Given the description of an element on the screen output the (x, y) to click on. 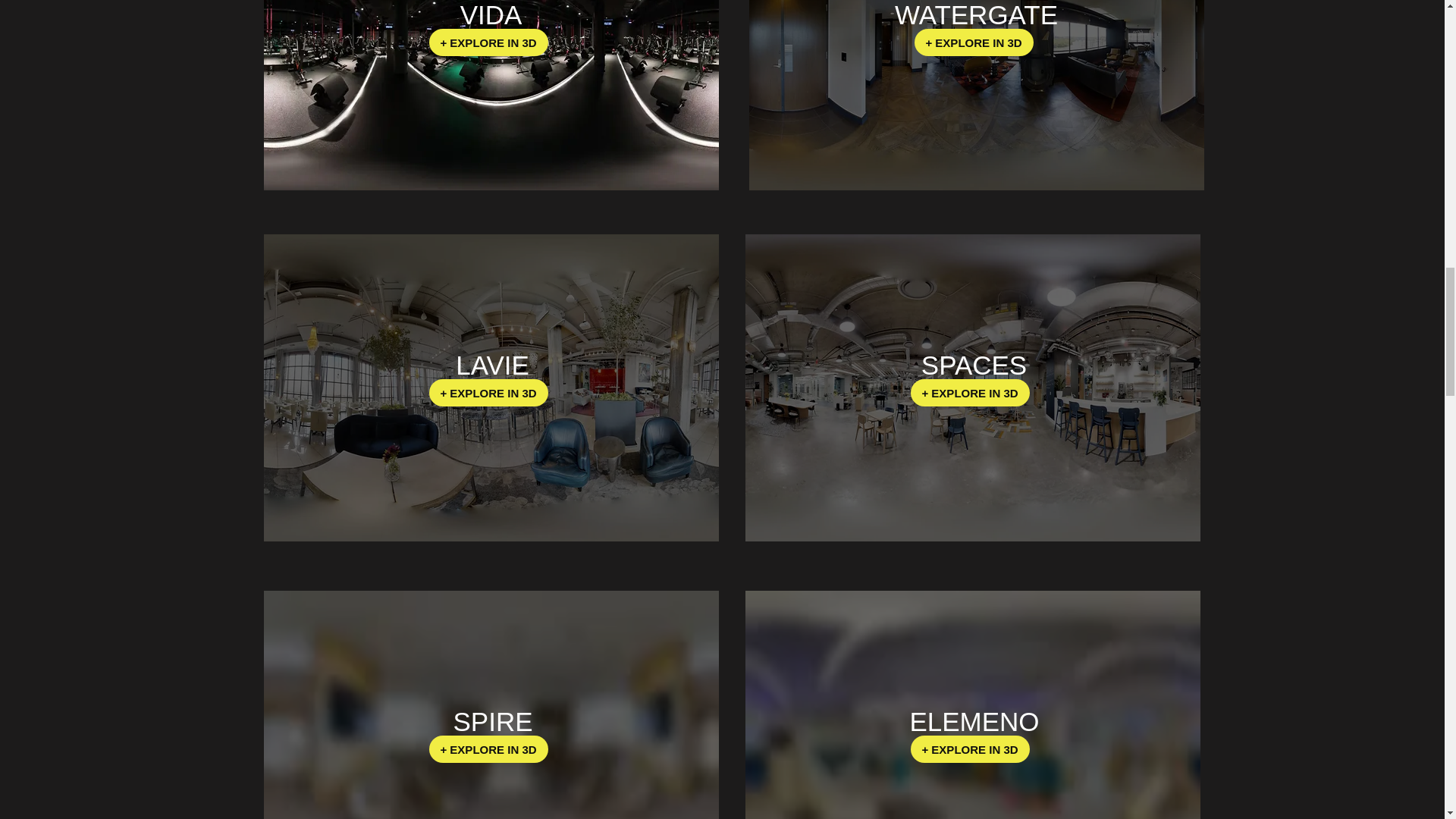
SPIRE (492, 721)
LAVIE (492, 365)
WATERGATE (976, 14)
ELEMENO (973, 721)
SPACES (973, 365)
VIDA (491, 14)
